Given the description of an element on the screen output the (x, y) to click on. 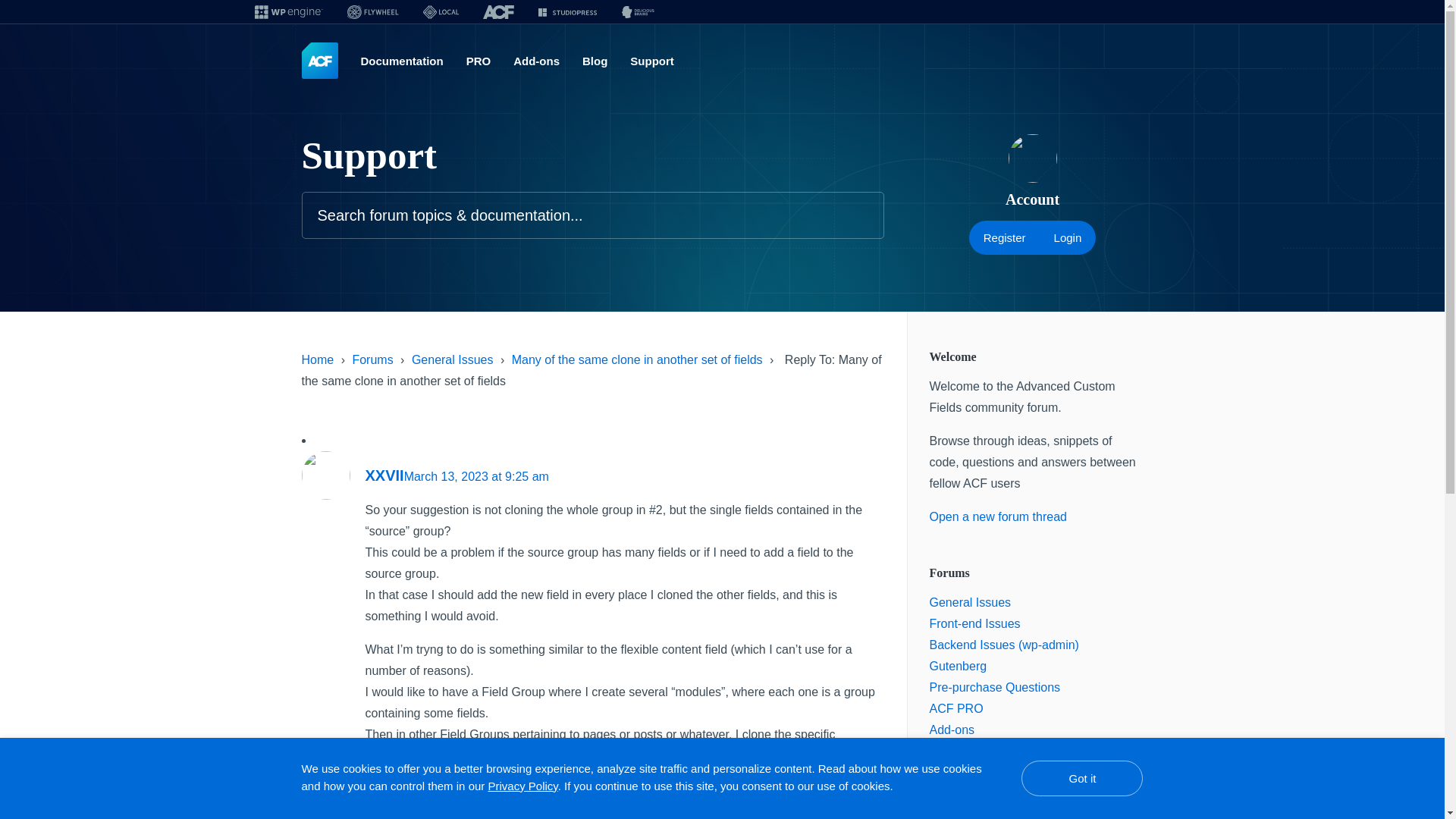
Blog (594, 61)
Documentation (401, 61)
Feedback (956, 793)
Feature Requests (978, 771)
Gutenberg (958, 666)
Local (440, 11)
PRO (478, 61)
ACF PRO (957, 707)
Many of the same clone in another set of fields (637, 359)
ACF (497, 11)
Add-ons (536, 61)
Advanced Custom Fields (319, 61)
General Issues (970, 602)
Flywheel (372, 11)
Add-ons (952, 729)
